Given the description of an element on the screen output the (x, y) to click on. 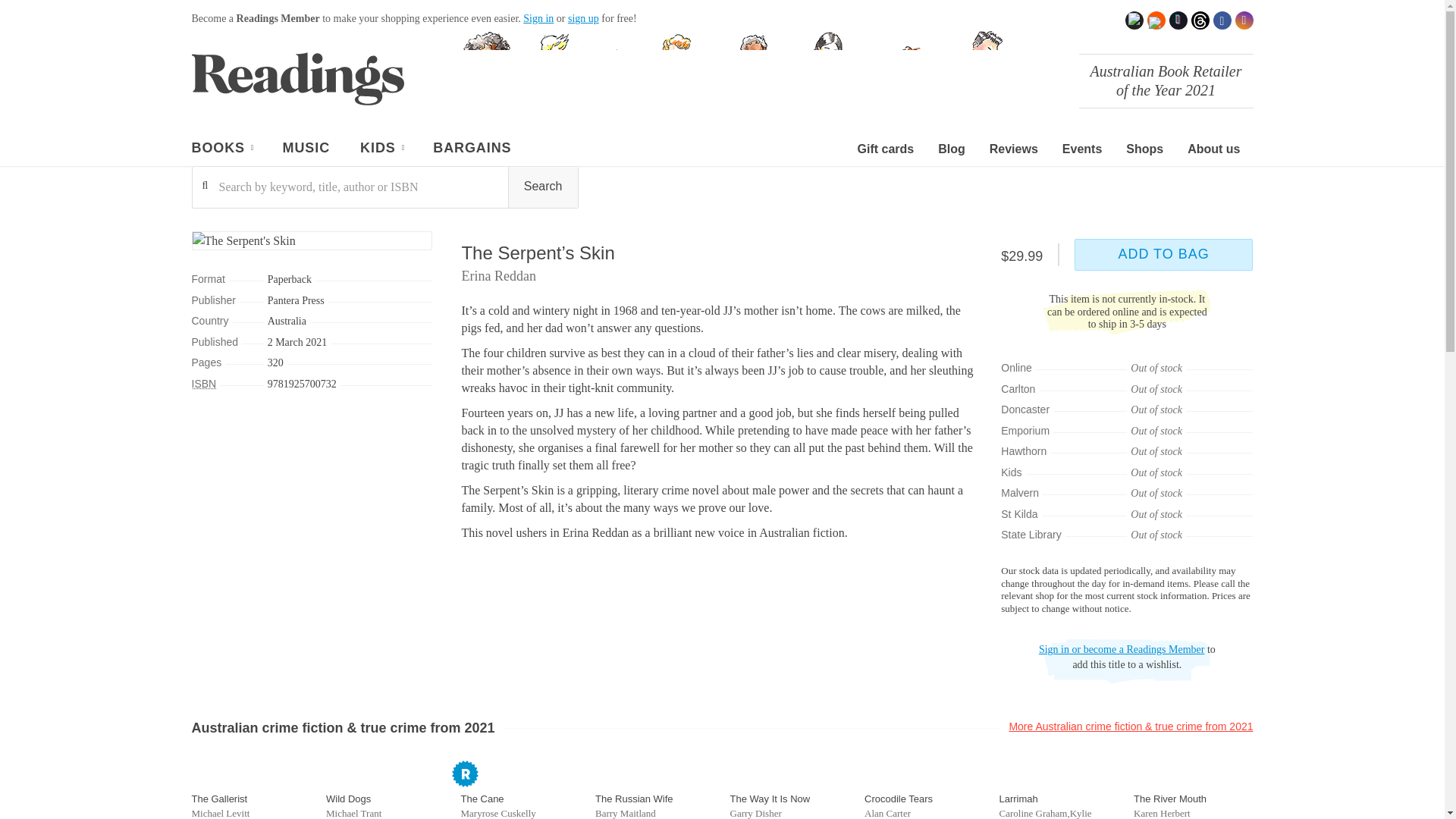
MUSIC (306, 149)
Readings (297, 78)
Sign in (537, 18)
sign up (582, 18)
BOOKS (221, 150)
KIDS (381, 150)
International Standard Book Number (202, 383)
